Given the description of an element on the screen output the (x, y) to click on. 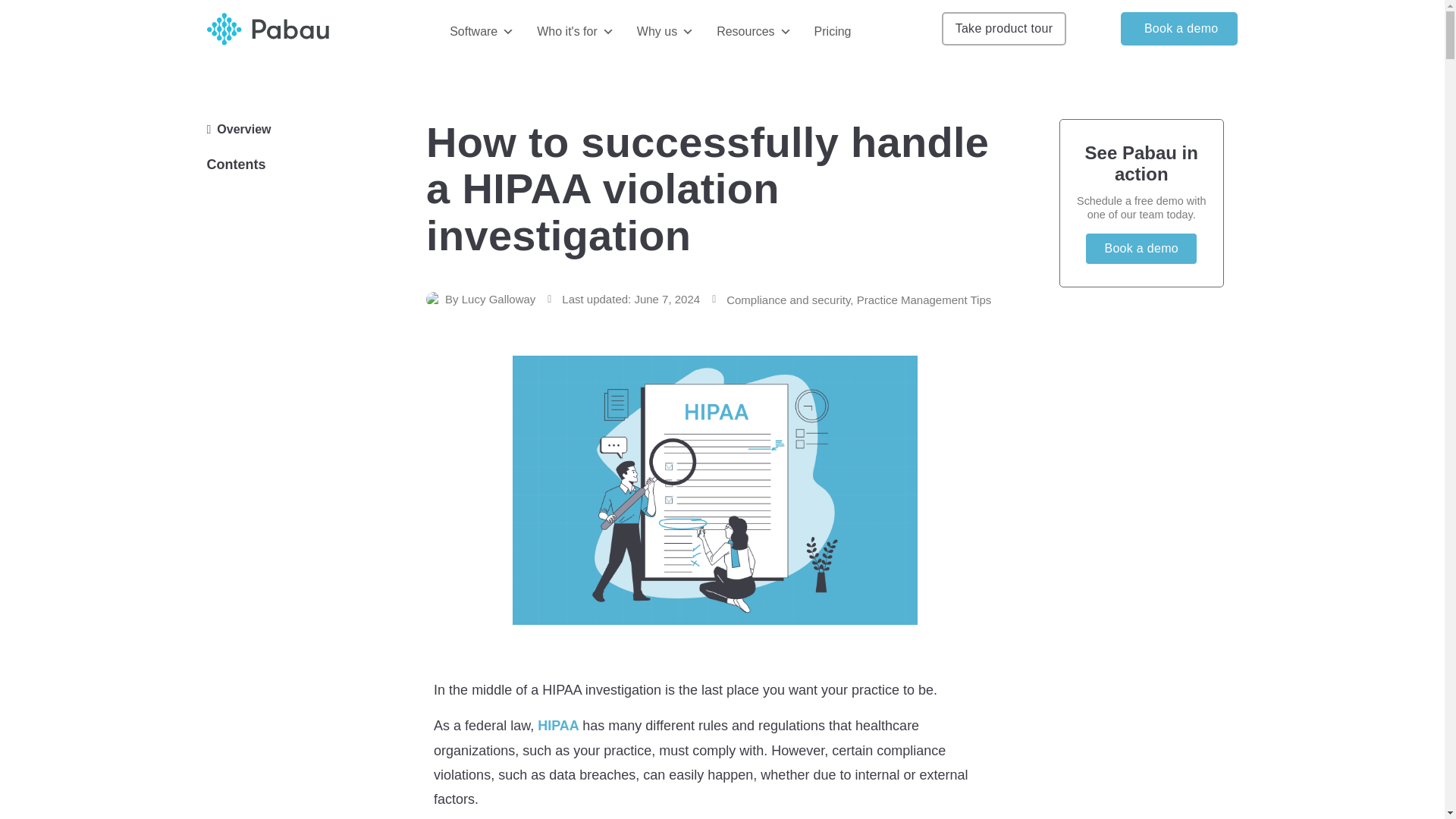
Why us (664, 31)
Software (481, 31)
Who it's for (575, 31)
